Given the description of an element on the screen output the (x, y) to click on. 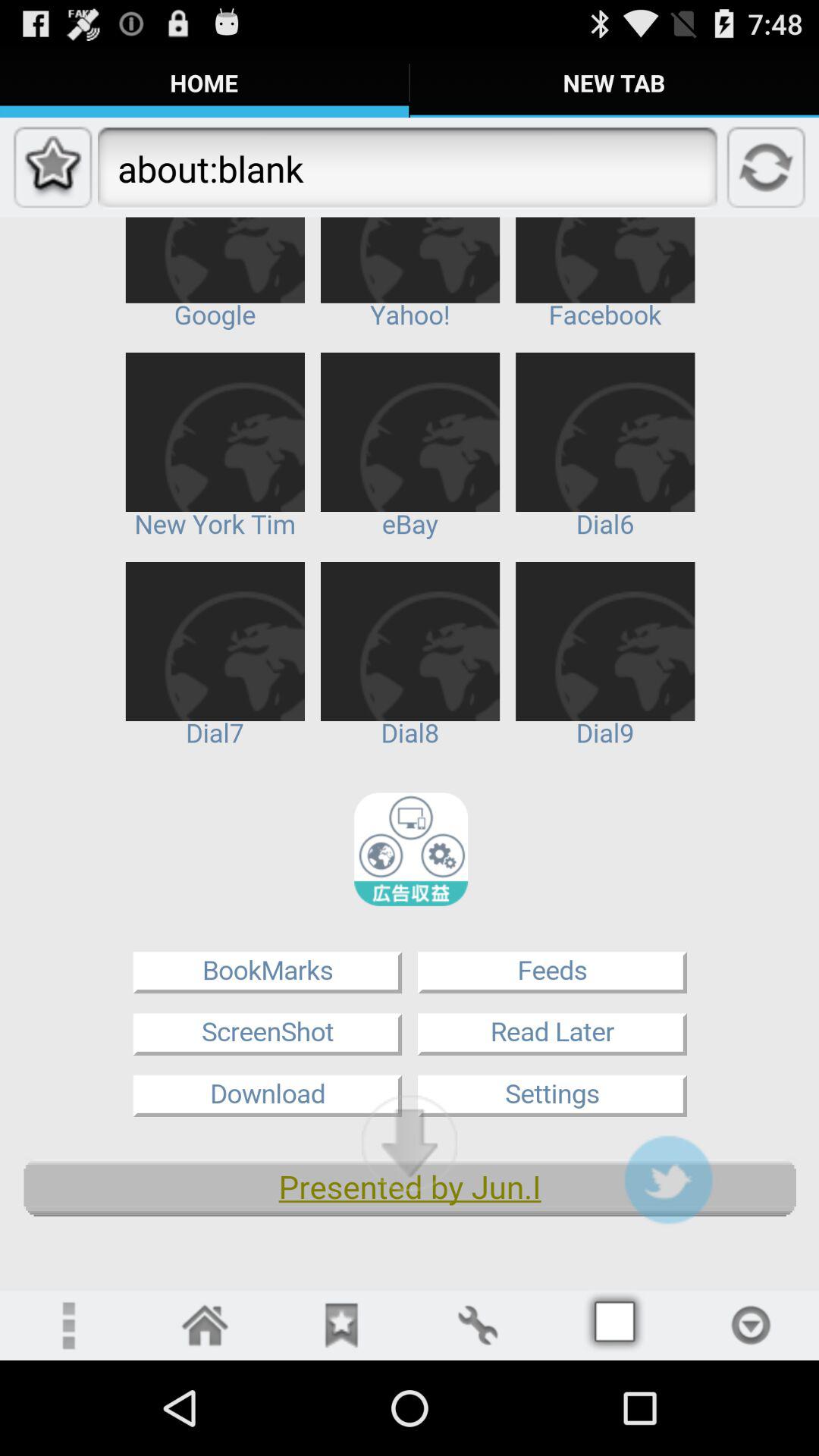
go back to home page (204, 1325)
